Given the description of an element on the screen output the (x, y) to click on. 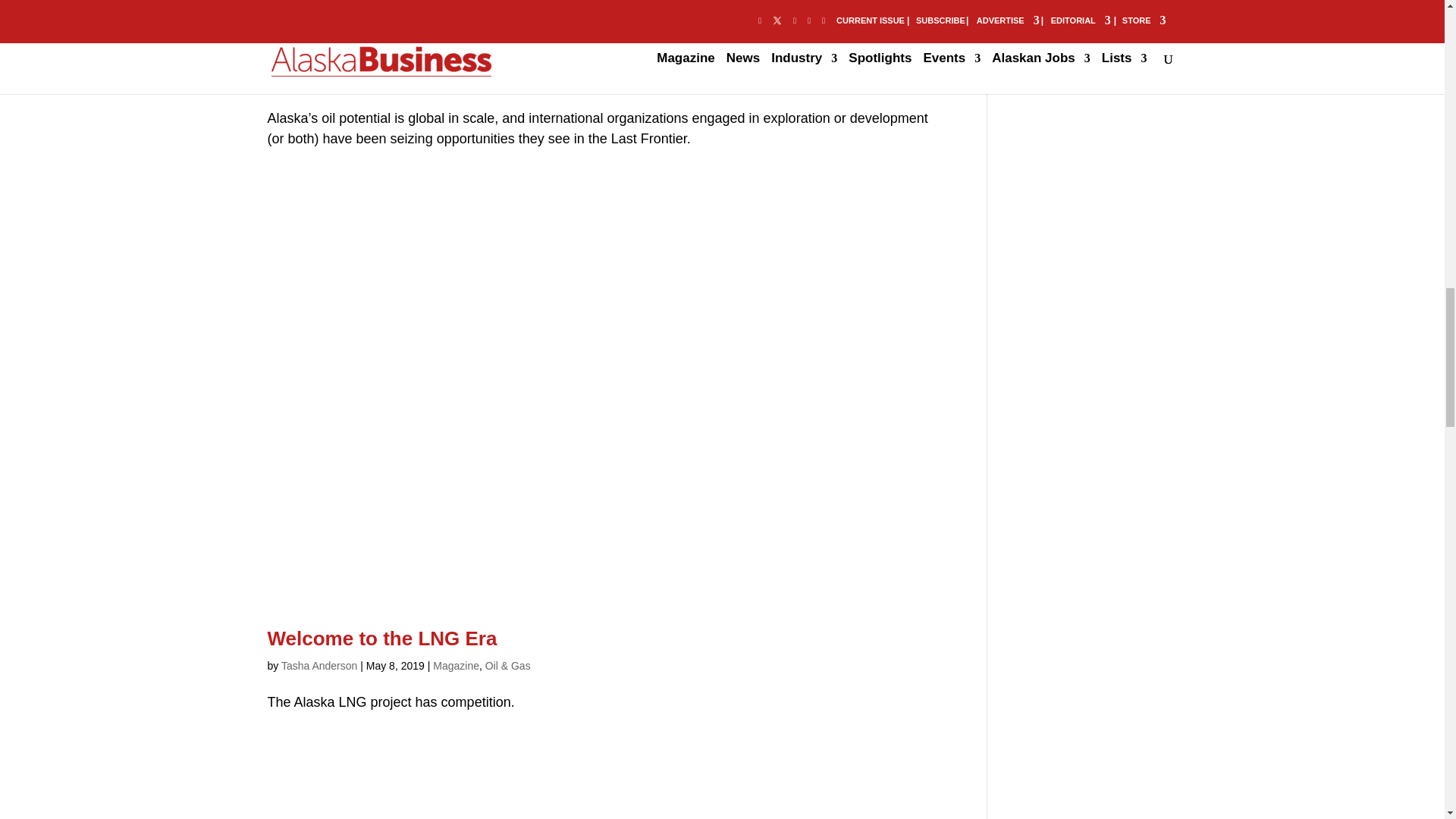
Posts by Tasha Anderson (318, 665)
Posts by Tasha Anderson (318, 81)
